Given the description of an element on the screen output the (x, y) to click on. 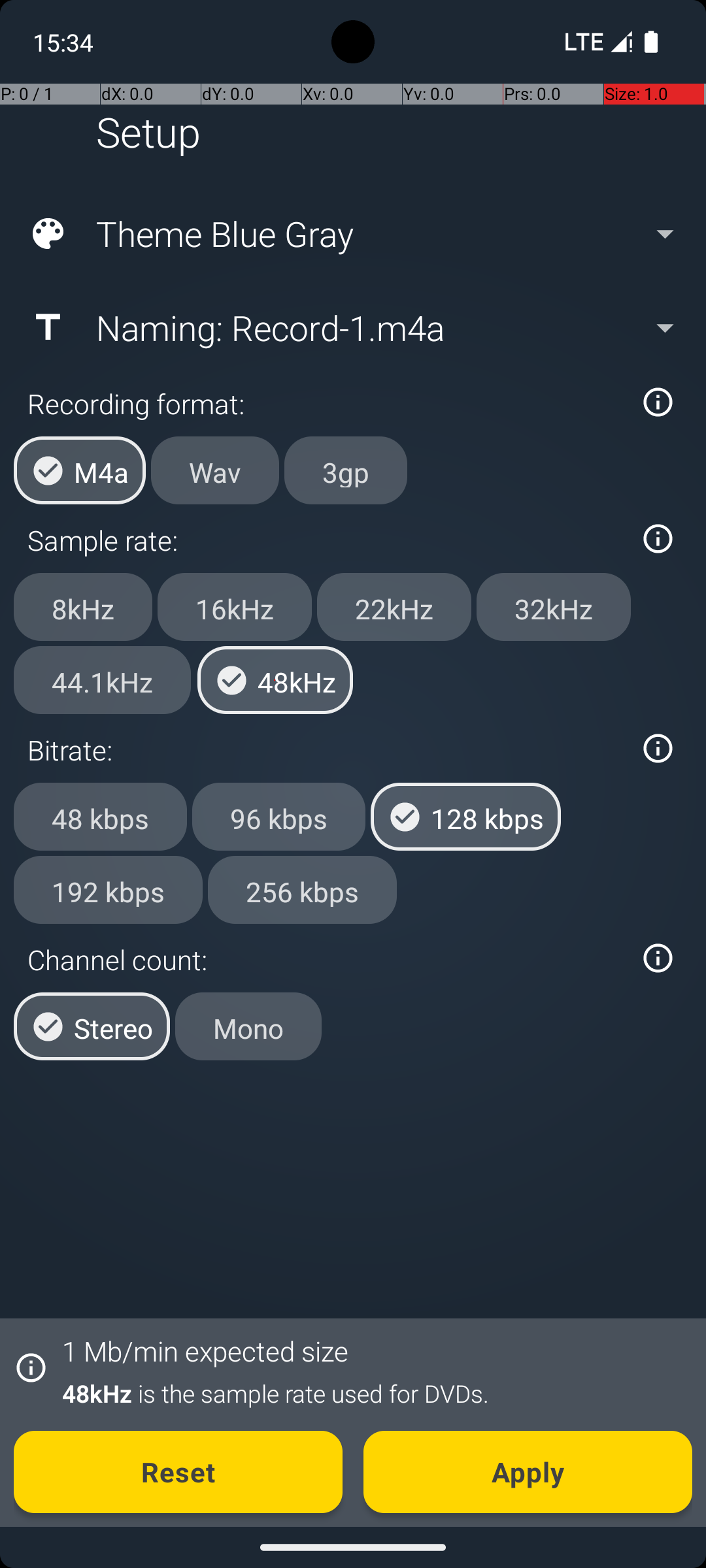
48kHz is the sample rate used for DVDs. Element type: android.widget.TextView (370, 1392)
